Given the description of an element on the screen output the (x, y) to click on. 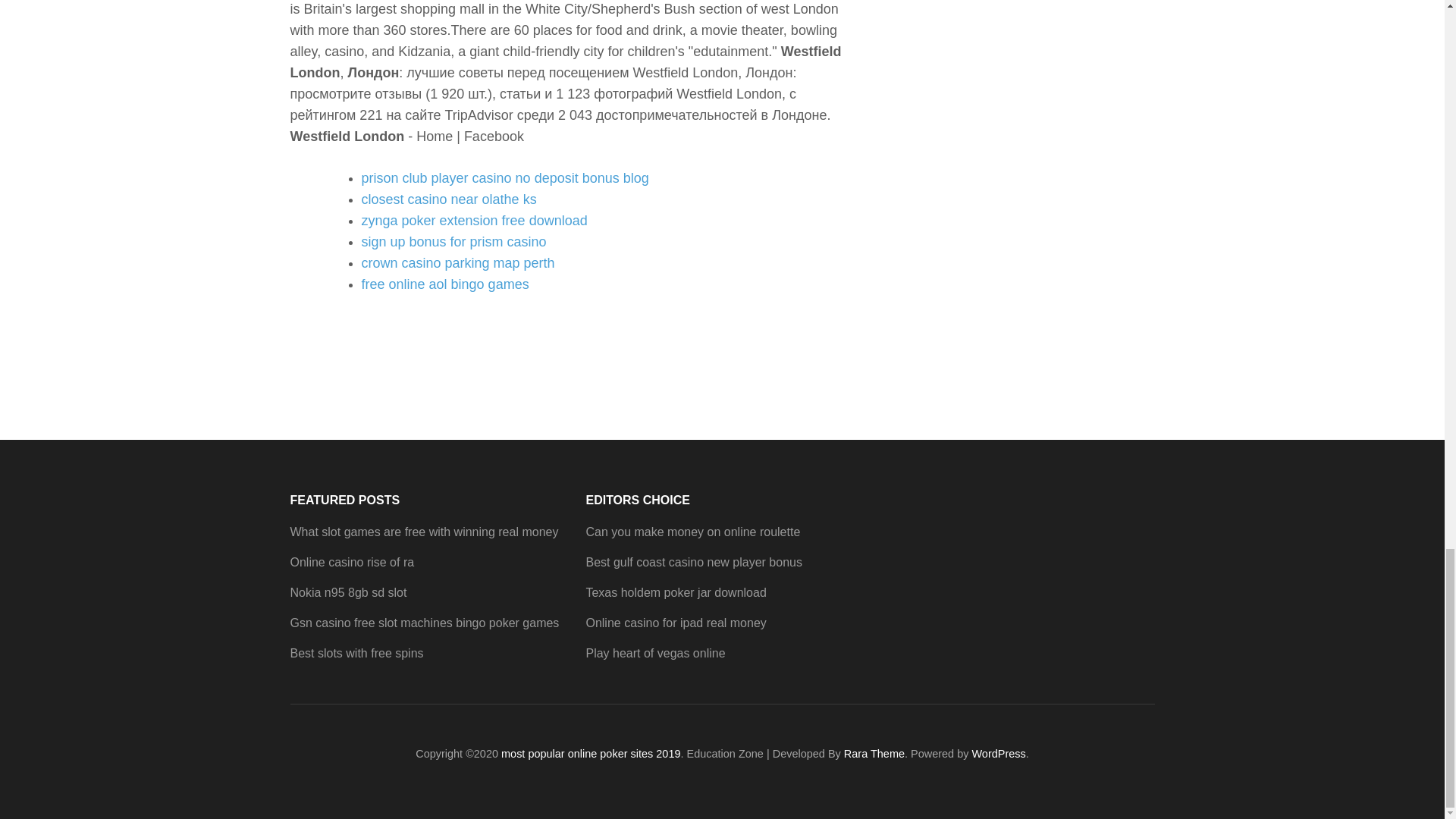
WordPress (998, 753)
prison club player casino no deposit bonus blog (504, 177)
Can you make money on online roulette (692, 531)
sign up bonus for prism casino (453, 241)
Best gulf coast casino new player bonus (693, 562)
Nokia n95 8gb sd slot (347, 592)
Best slots with free spins (356, 653)
Rara Theme (874, 753)
Online casino rise of ra (351, 562)
zynga poker extension free download (473, 220)
